Given the description of an element on the screen output the (x, y) to click on. 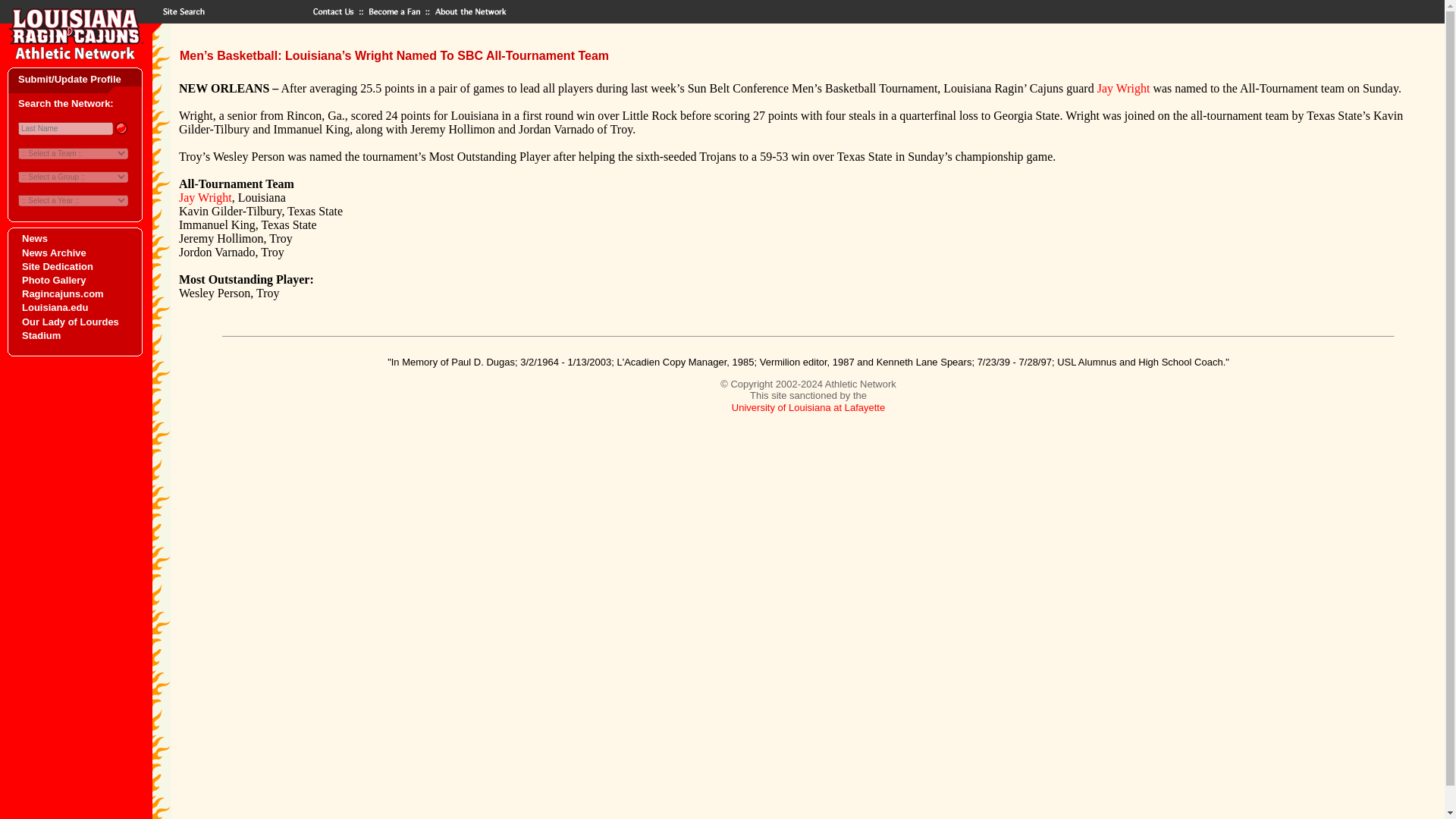
Louisiana.edu (54, 307)
University of Louisiana at Lafayette (808, 407)
Jay Wright (205, 196)
Site Dedication (57, 266)
Ragincajuns.com (62, 293)
Jay Wright (1123, 88)
Submit (120, 127)
Our Lady of Lourdes Stadium (70, 327)
News Archive (53, 252)
Photo Gallery (53, 279)
News (34, 238)
